Given the description of an element on the screen output the (x, y) to click on. 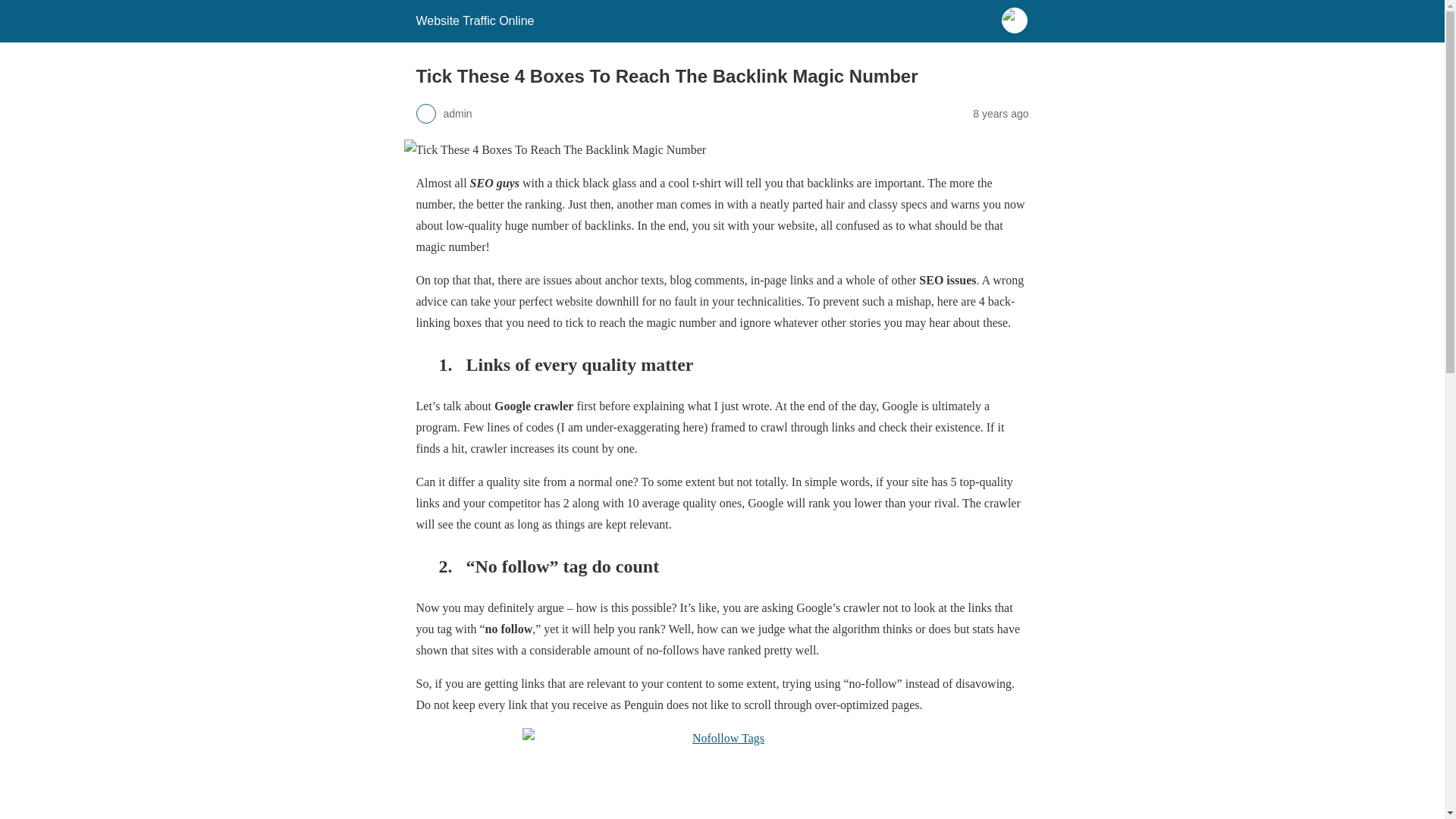
Website Traffic Online (474, 20)
